Given the description of an element on the screen output the (x, y) to click on. 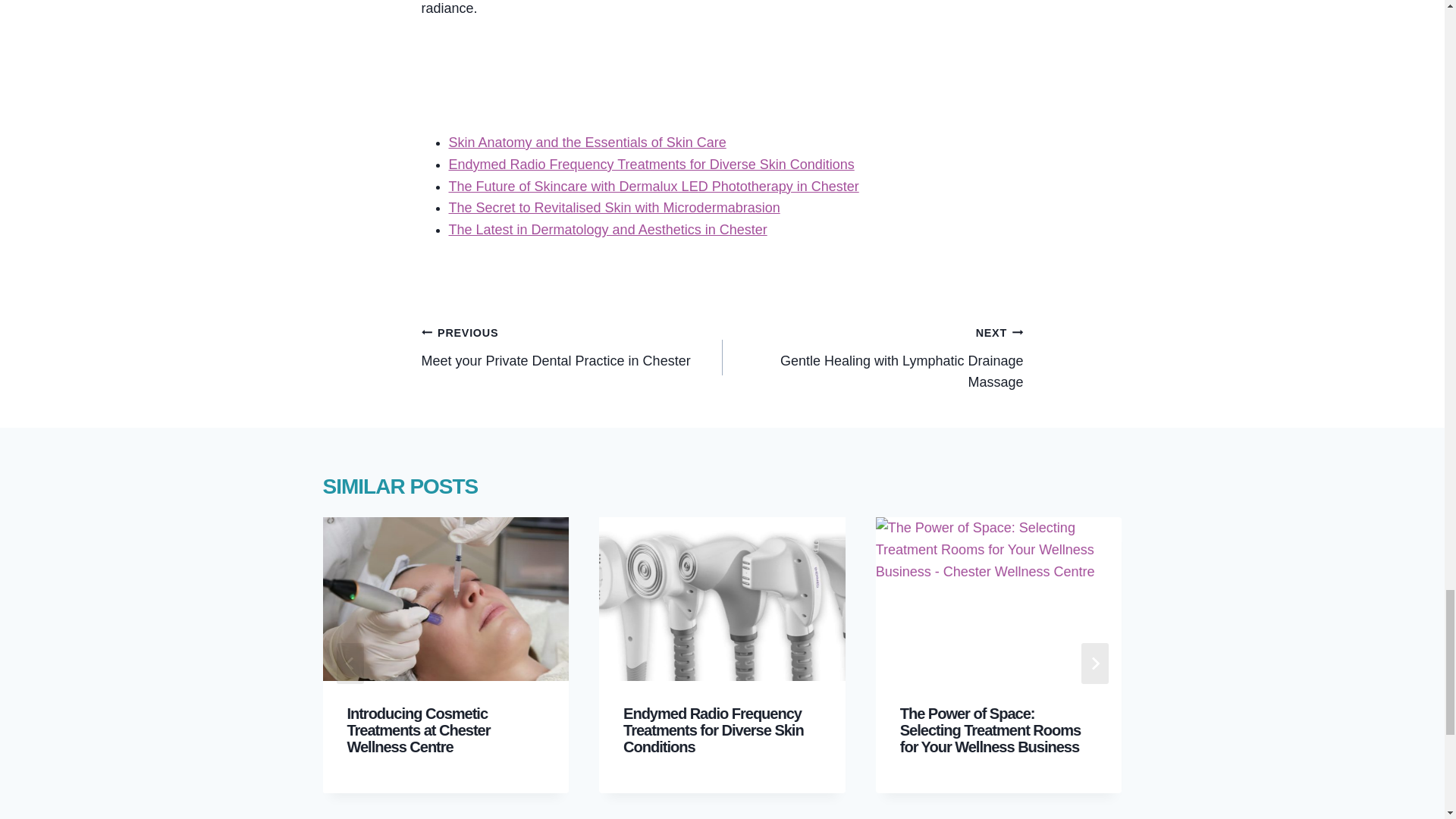
Skin Anatomy and the Essentials of Skin Care (587, 142)
The Latest in Dermatology and Aesthetics in Chester (607, 229)
The Secret to Revitalised Skin with Microdermabrasion (614, 207)
